Given the description of an element on the screen output the (x, y) to click on. 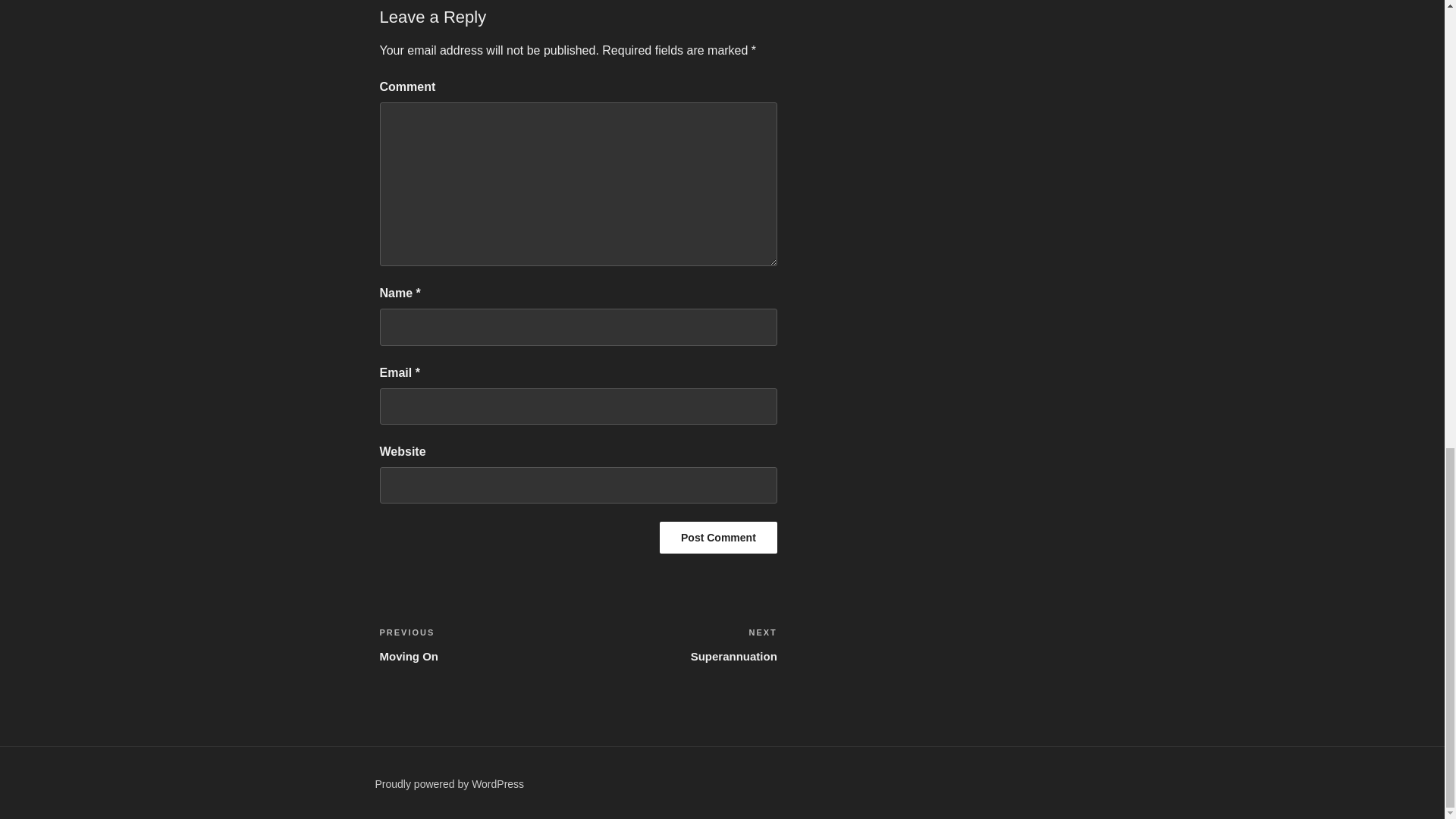
Post Comment (718, 537)
Post Comment (718, 537)
